Given the description of an element on the screen output the (x, y) to click on. 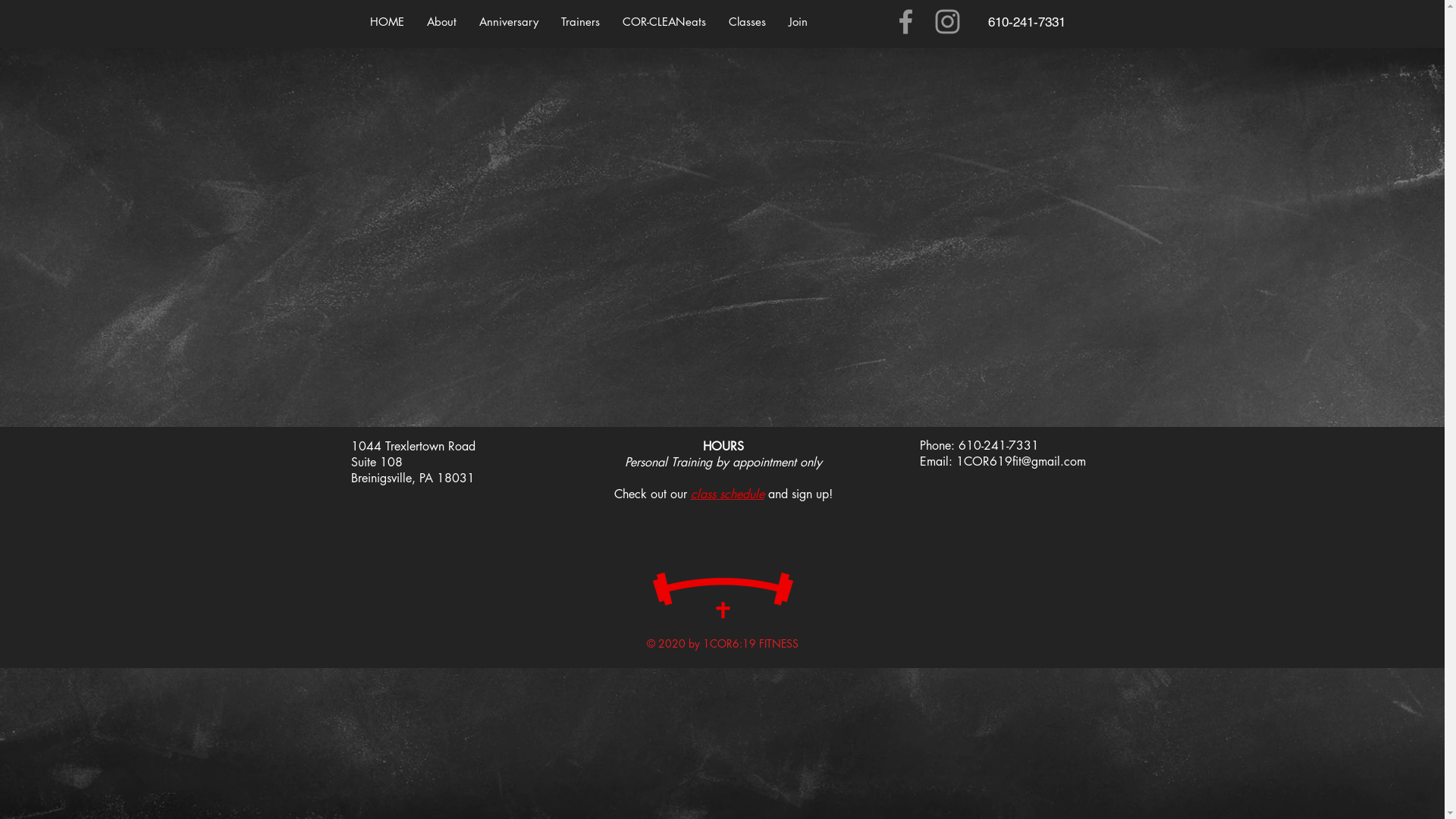
HOME Element type: text (385, 21)
Join Element type: text (797, 21)
Anniversary Element type: text (508, 21)
COR-CLEANeats Element type: text (664, 21)
About Element type: text (441, 21)
Trainers Element type: text (579, 21)
1COR619fit@gmail.com Element type: text (1020, 461)
class schedule Element type: text (726, 494)
610 Element type: text (997, 21)
Classes Element type: text (747, 21)
